Given the description of an element on the screen output the (x, y) to click on. 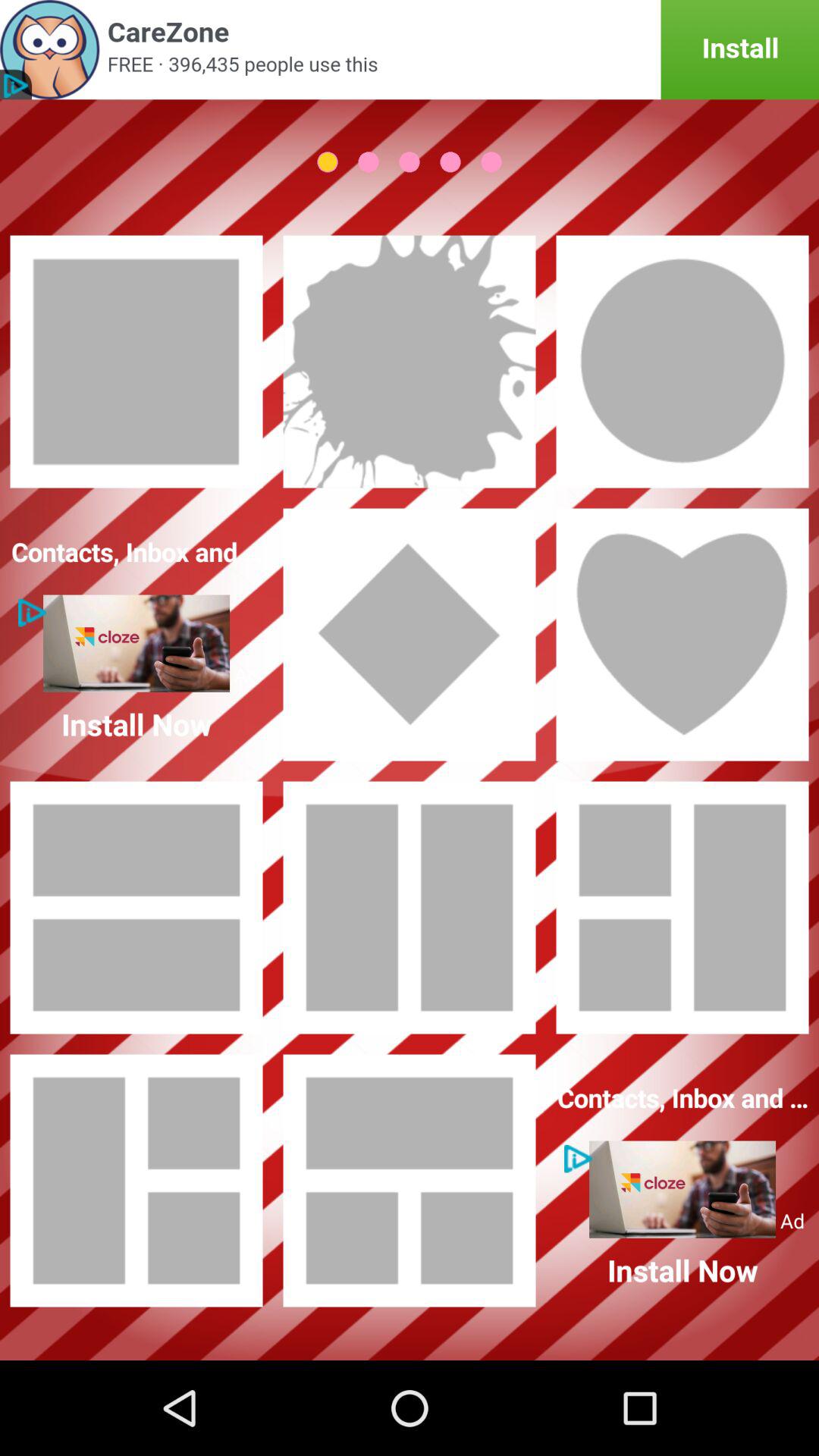
choose a frame (682, 361)
